Given the description of an element on the screen output the (x, y) to click on. 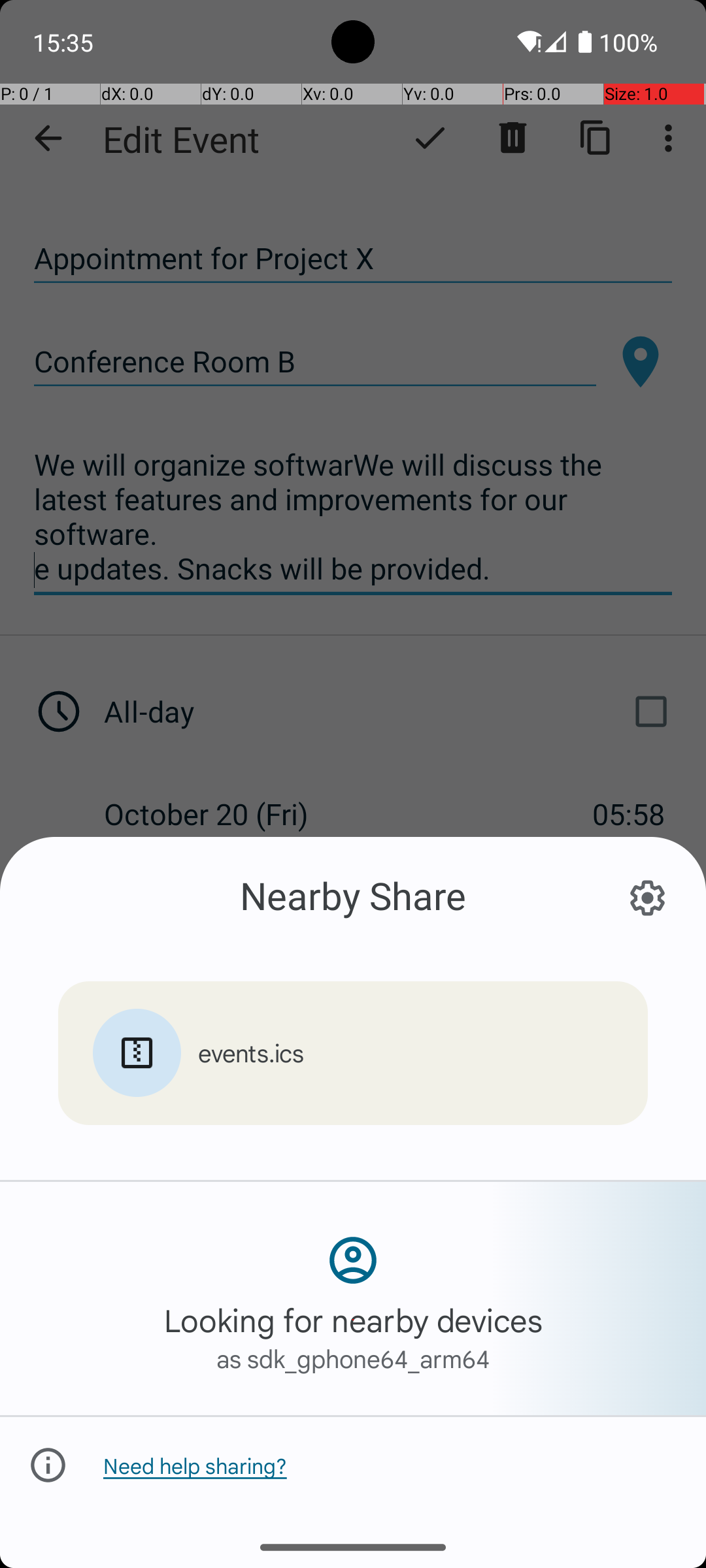
Nearby Share Element type: android.widget.TextView (353, 894)
events.ics Element type: android.widget.TextView (251, 1052)
Need help sharing? Element type: android.widget.TextView (194, 1464)
Looking for nearby devices Element type: android.widget.TextView (353, 1319)
as sdk_gphone64_arm64 Element type: android.widget.TextView (353, 1358)
